Given the description of an element on the screen output the (x, y) to click on. 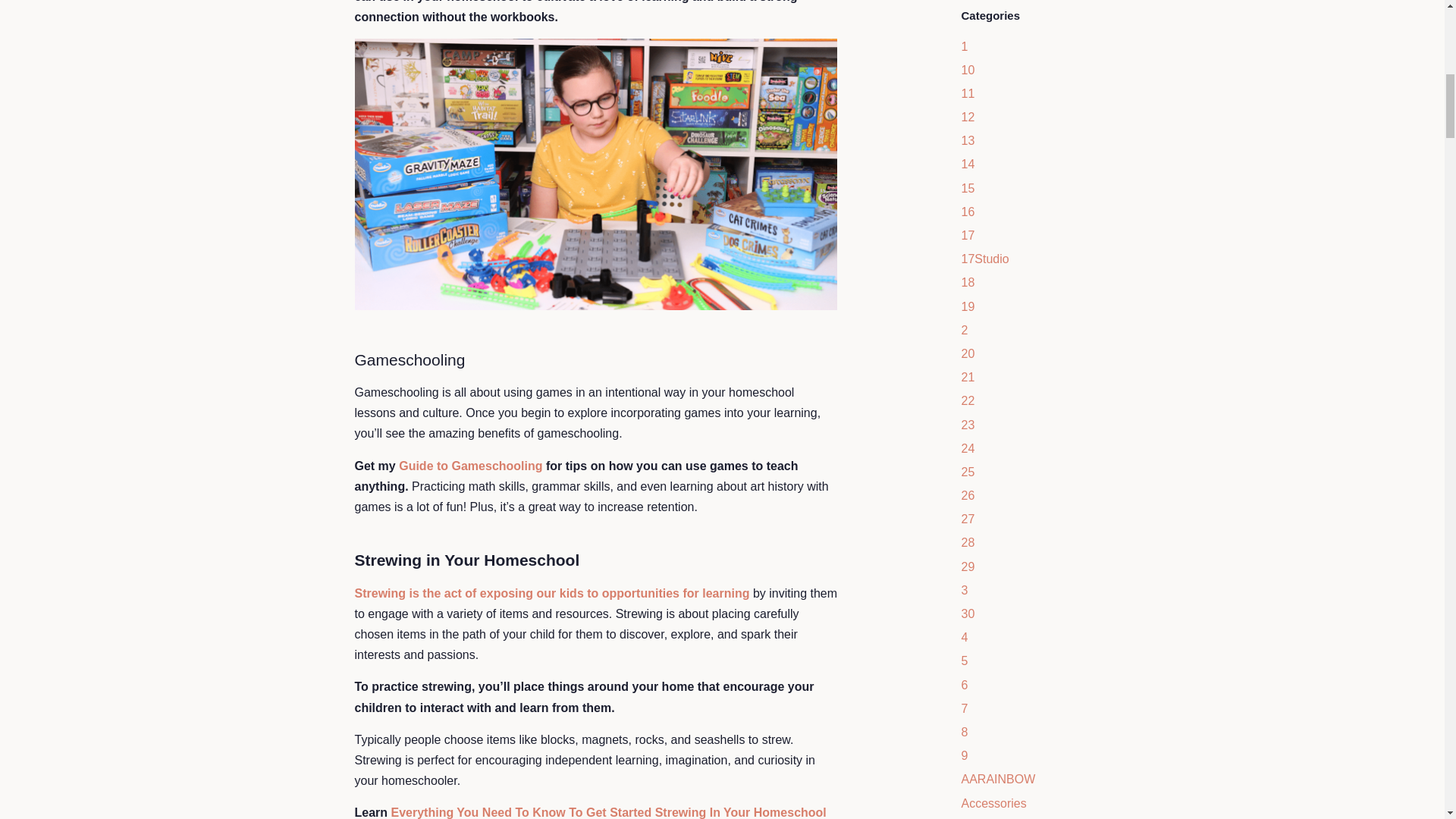
Show articles tagged 22 (967, 400)
Show articles tagged 18 (967, 282)
Show articles tagged 12 (967, 116)
Show articles tagged 17 (967, 235)
10 (967, 69)
Show articles tagged 19 (967, 306)
Show articles tagged 16 (967, 211)
Show articles tagged 21 (967, 377)
15 (967, 187)
Show articles tagged 17Studio (984, 258)
